Given the description of an element on the screen output the (x, y) to click on. 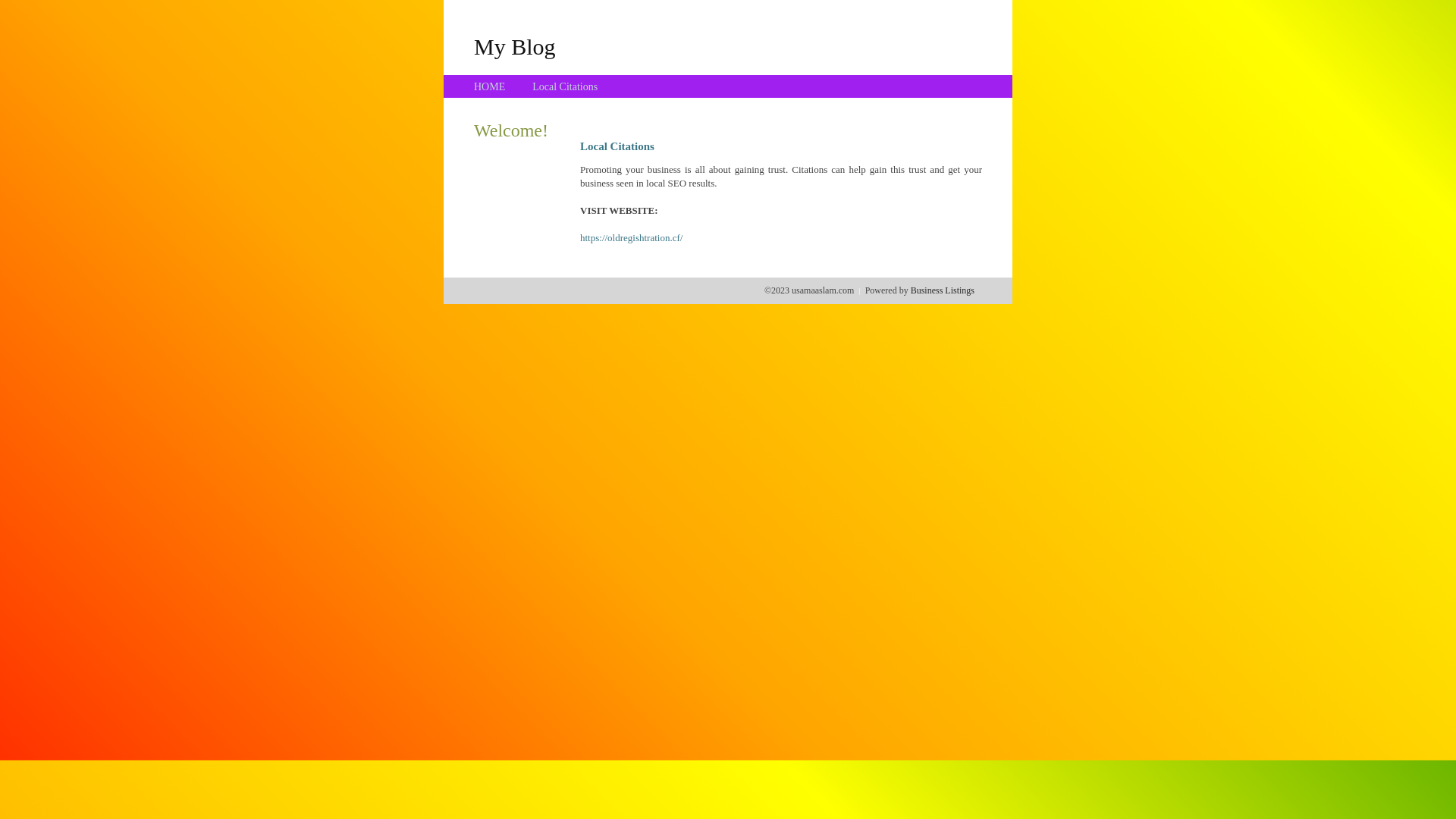
My Blog Element type: text (514, 46)
HOME Element type: text (489, 86)
Local Citations Element type: text (564, 86)
https://oldregishtration.cf/ Element type: text (631, 237)
Business Listings Element type: text (942, 290)
